Given the description of an element on the screen output the (x, y) to click on. 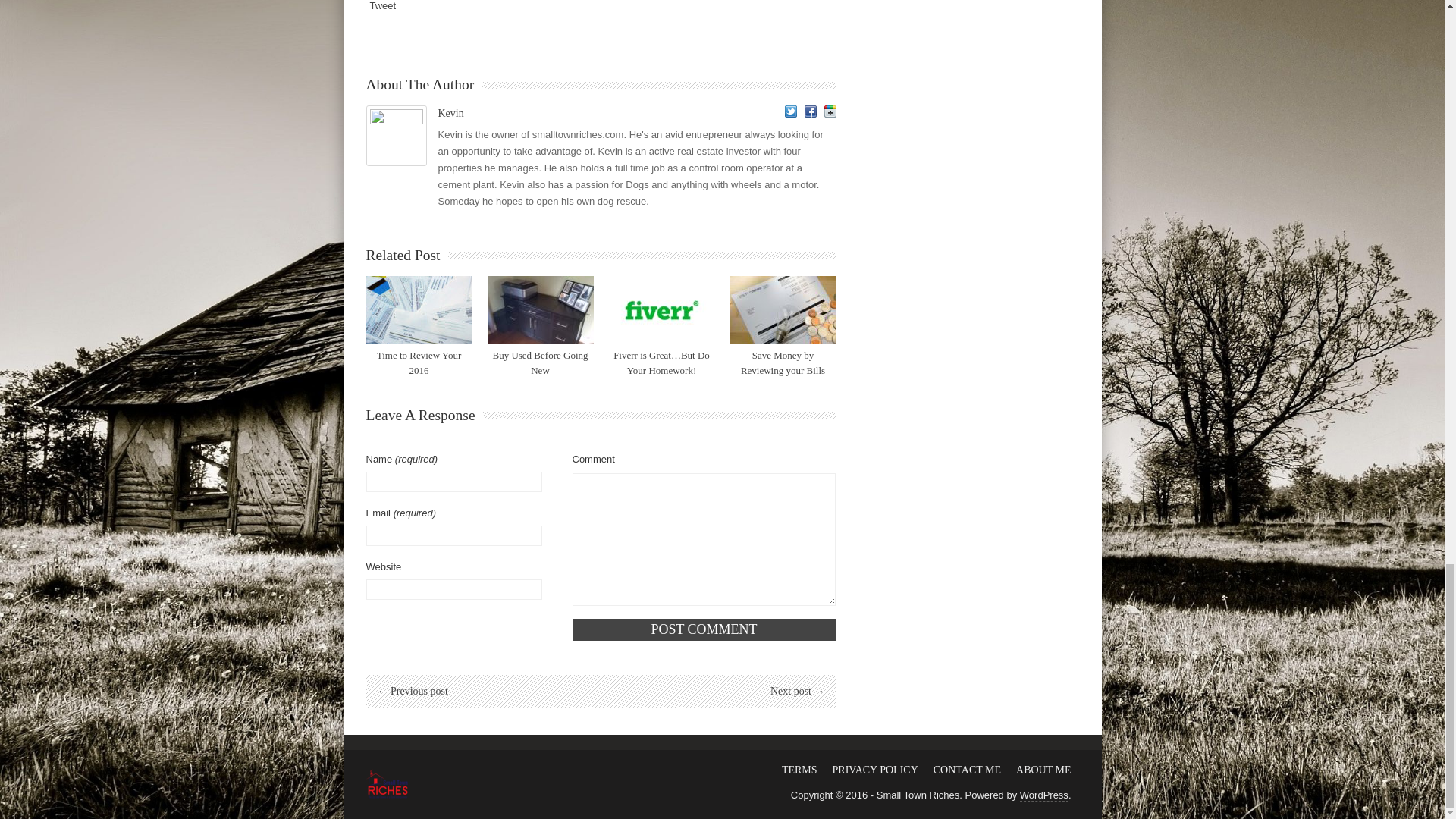
Posts by Kevin (451, 112)
Tweet (382, 5)
Save Money by Reviewing your Bills (782, 309)
Time to Review Your 2016 (419, 362)
Buy Used Before Going New (540, 362)
Share on Tumblr (472, 6)
Post Comment (703, 629)
Kevin (451, 112)
Share on Tumblr (472, 6)
Buy Used Before Going New (539, 309)
Save Money by Reviewing your Bills (783, 362)
Time to Review Your 2016 (418, 309)
